Given the description of an element on the screen output the (x, y) to click on. 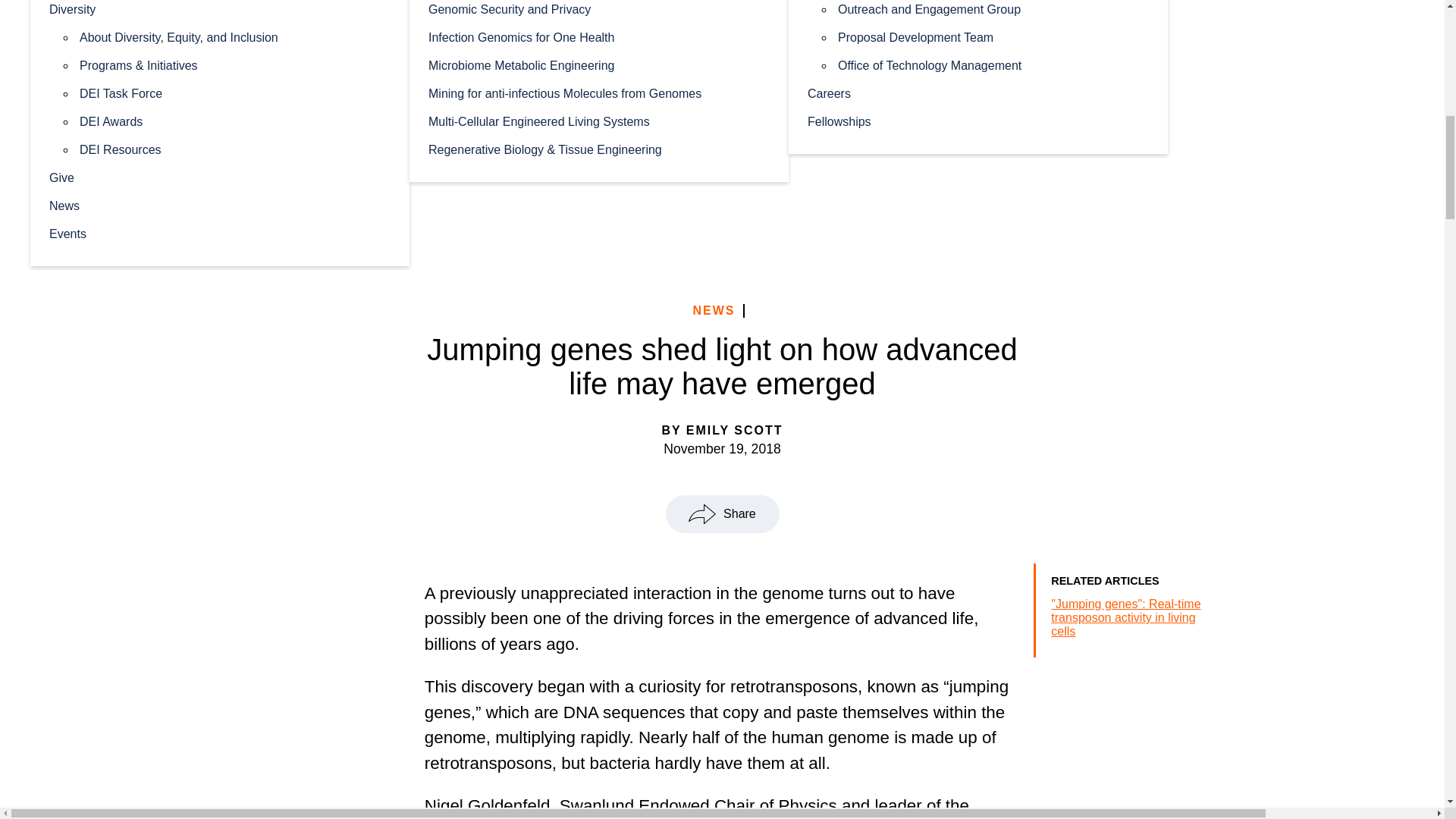
DEI Awards (234, 121)
Genomic Security and Privacy (599, 11)
Events (219, 233)
Give (219, 176)
Diversity (219, 11)
News (219, 204)
DEI Awards (234, 121)
DEI Resources (234, 148)
DEI Task Force (234, 92)
Microbiome Metabolic Engineering (599, 64)
Diversity (219, 11)
Events (219, 233)
About Diversity, Equity, and Inclusion (234, 36)
DEI Task Force (234, 92)
About Diversity, Equity, and Inclusion (234, 36)
